Given the description of an element on the screen output the (x, y) to click on. 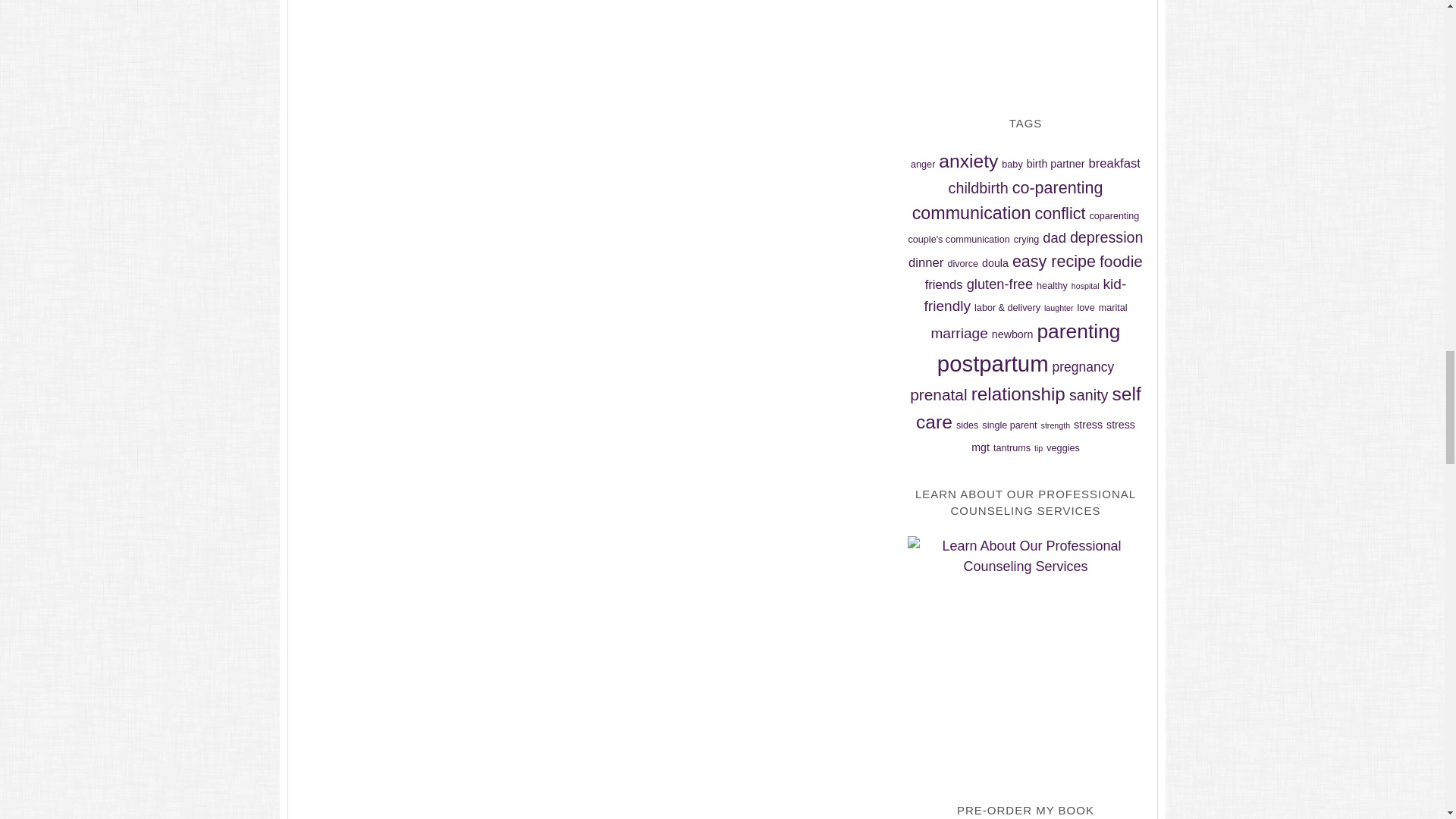
Learn About Our Professional Counseling Services (1024, 654)
